Given the description of an element on the screen output the (x, y) to click on. 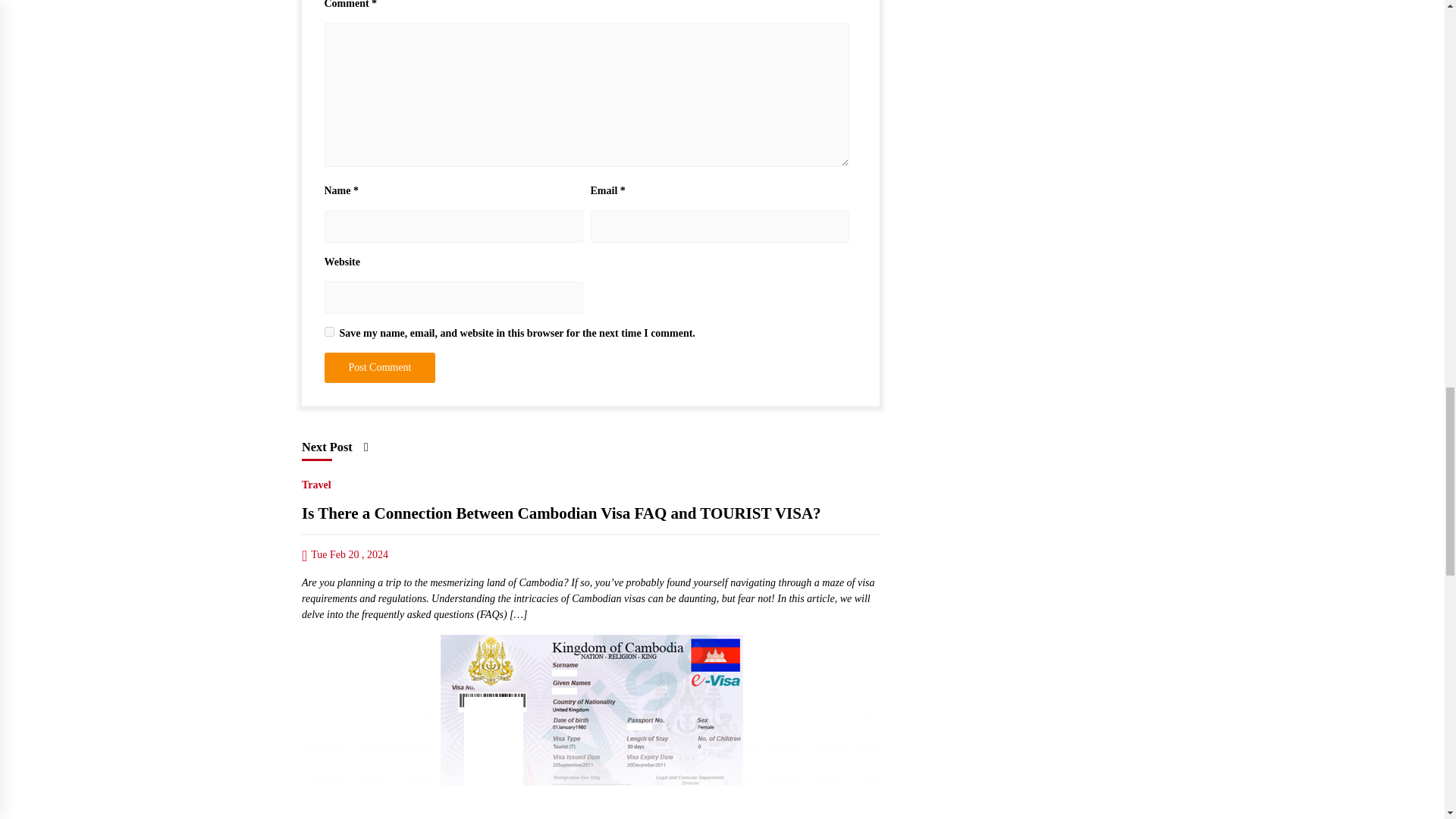
yes (329, 331)
Post Comment (379, 367)
